Given the description of an element on the screen output the (x, y) to click on. 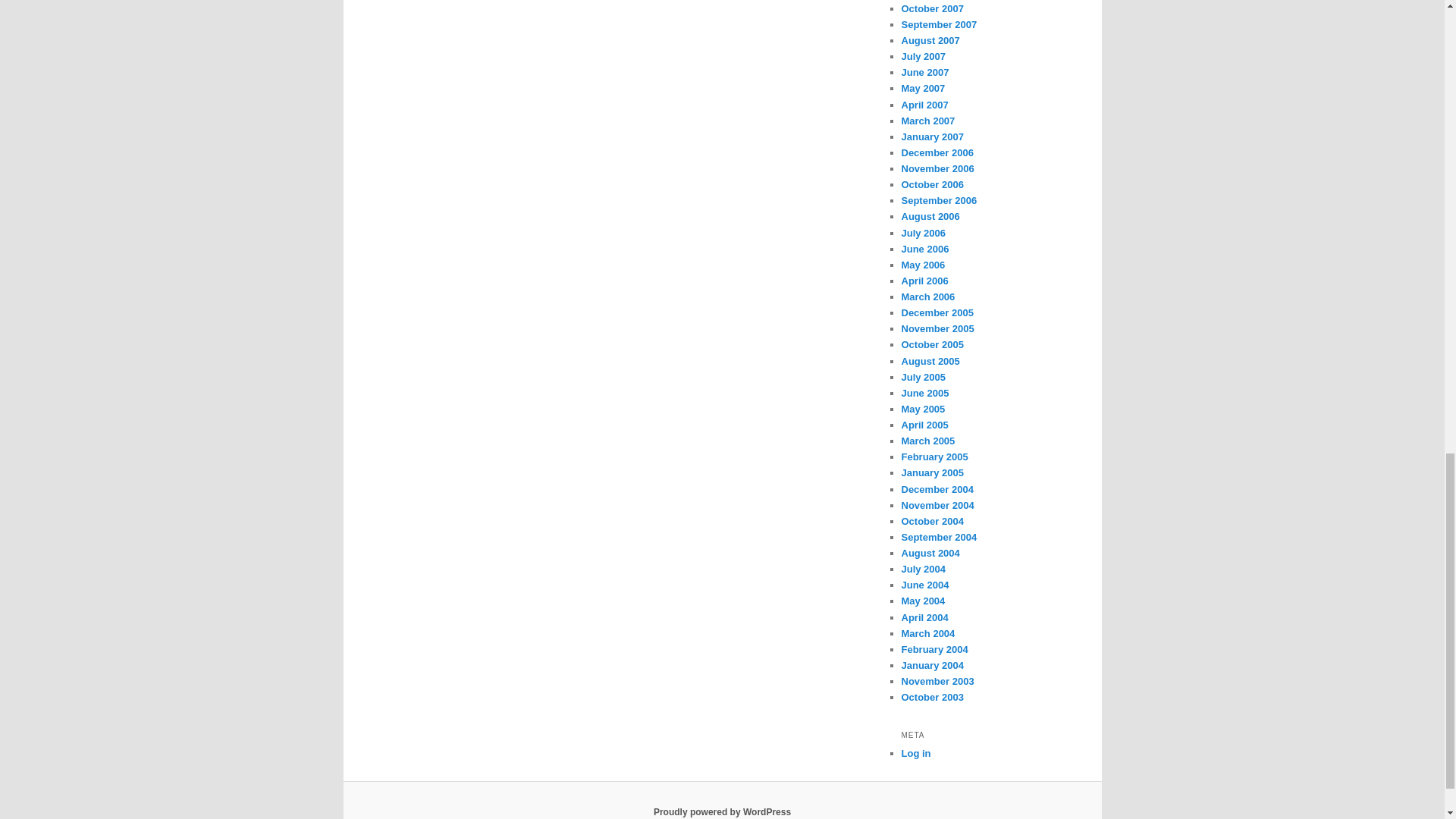
Semantic Personal Publishing Platform (721, 811)
